Given the description of an element on the screen output the (x, y) to click on. 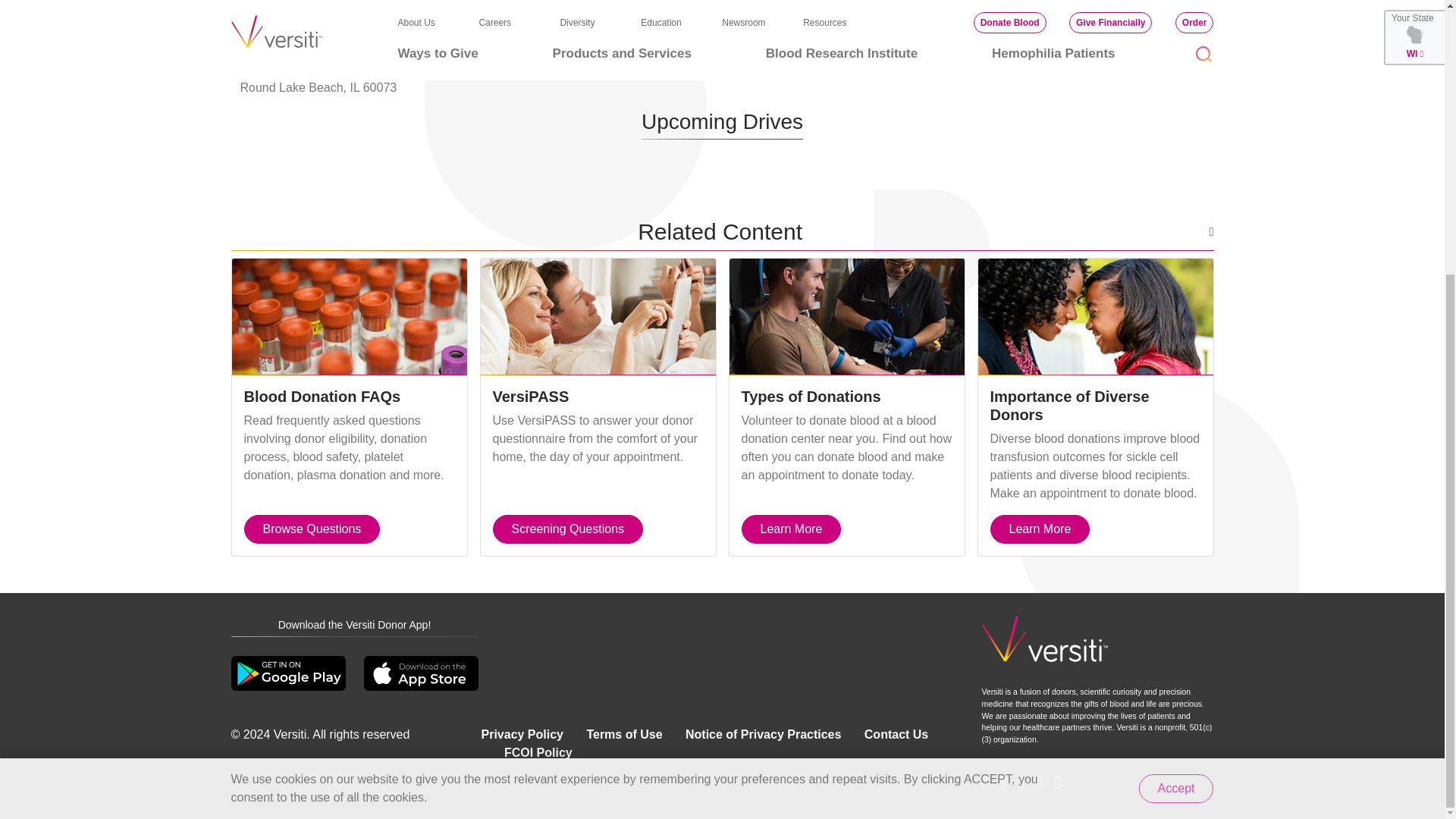
VersiPASS (598, 316)
Blood Donation FAQs (349, 316)
Importance of Diverse Donors (1095, 316)
Types of Donations (846, 316)
